Given the description of an element on the screen output the (x, y) to click on. 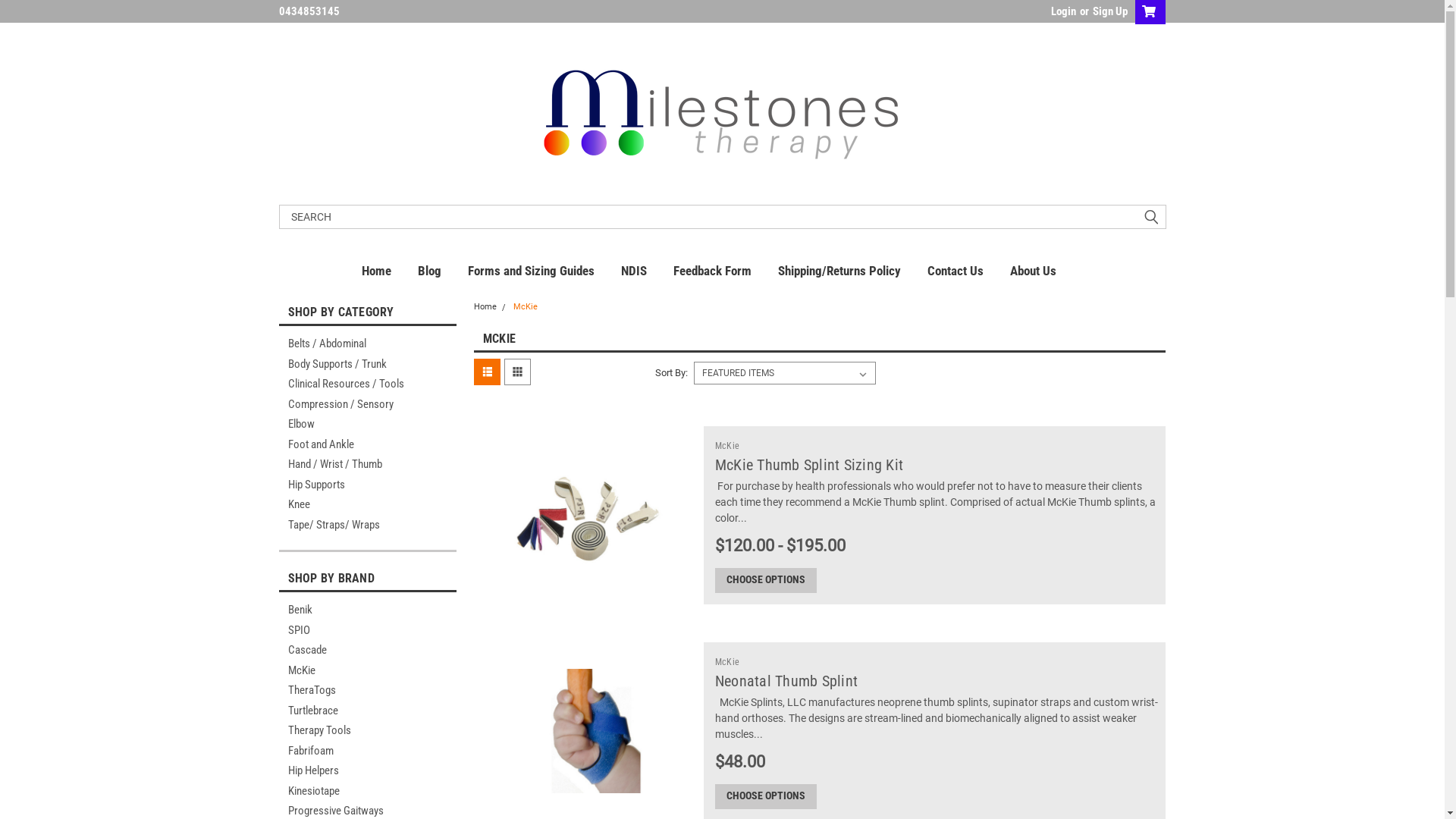
Hip Helpers Element type: text (367, 770)
Kinesiotape Element type: text (367, 791)
McKie Element type: text (525, 306)
NDIS Element type: text (647, 270)
McKie Element type: text (727, 444)
TheraTogs Element type: text (367, 690)
Compression / Sensory Element type: text (354, 404)
Home Element type: text (484, 306)
Forms and Sizing Guides Element type: text (544, 270)
Elbow Element type: text (354, 424)
Clinical Resources / Tools Element type: text (354, 383)
McKie Thumb Splint Sizing Kit Element type: hover (588, 514)
Belts / Abdominal Element type: text (354, 343)
Sign Up Element type: text (1107, 11)
Login Element type: text (1063, 11)
Shipping/Returns Policy Element type: text (852, 270)
Hand / Wrist / Thumb Element type: text (354, 464)
Home Element type: text (389, 270)
Foot and Ankle Element type: text (354, 443)
Fabrifoam Element type: text (367, 750)
Hip Supports Element type: text (354, 484)
Body Supports / Trunk Element type: text (354, 363)
McKie Element type: text (727, 661)
About Us Element type: text (1046, 270)
McKie Thumb Splint Sizing Kit Element type: text (809, 464)
Turtlebrace Element type: text (367, 710)
Therapy Tools Element type: text (367, 730)
SPIO Element type: text (367, 630)
McKie Element type: text (367, 669)
submit Element type: hover (1150, 216)
Cascade Element type: text (367, 650)
Neonatal Thumb Splint Element type: hover (588, 730)
Milestones Therapy Element type: hover (721, 113)
Blog Element type: text (442, 270)
Benik Element type: text (367, 609)
Neonatal Thumb Splint Element type: text (786, 680)
Knee Element type: text (354, 504)
CHOOSE OPTIONS Element type: text (765, 579)
Feedback Form Element type: text (725, 270)
CHOOSE OPTIONS Element type: text (765, 796)
Contact Us Element type: text (968, 270)
Tape/ Straps/ Wraps Element type: text (354, 524)
